Given the description of an element on the screen output the (x, y) to click on. 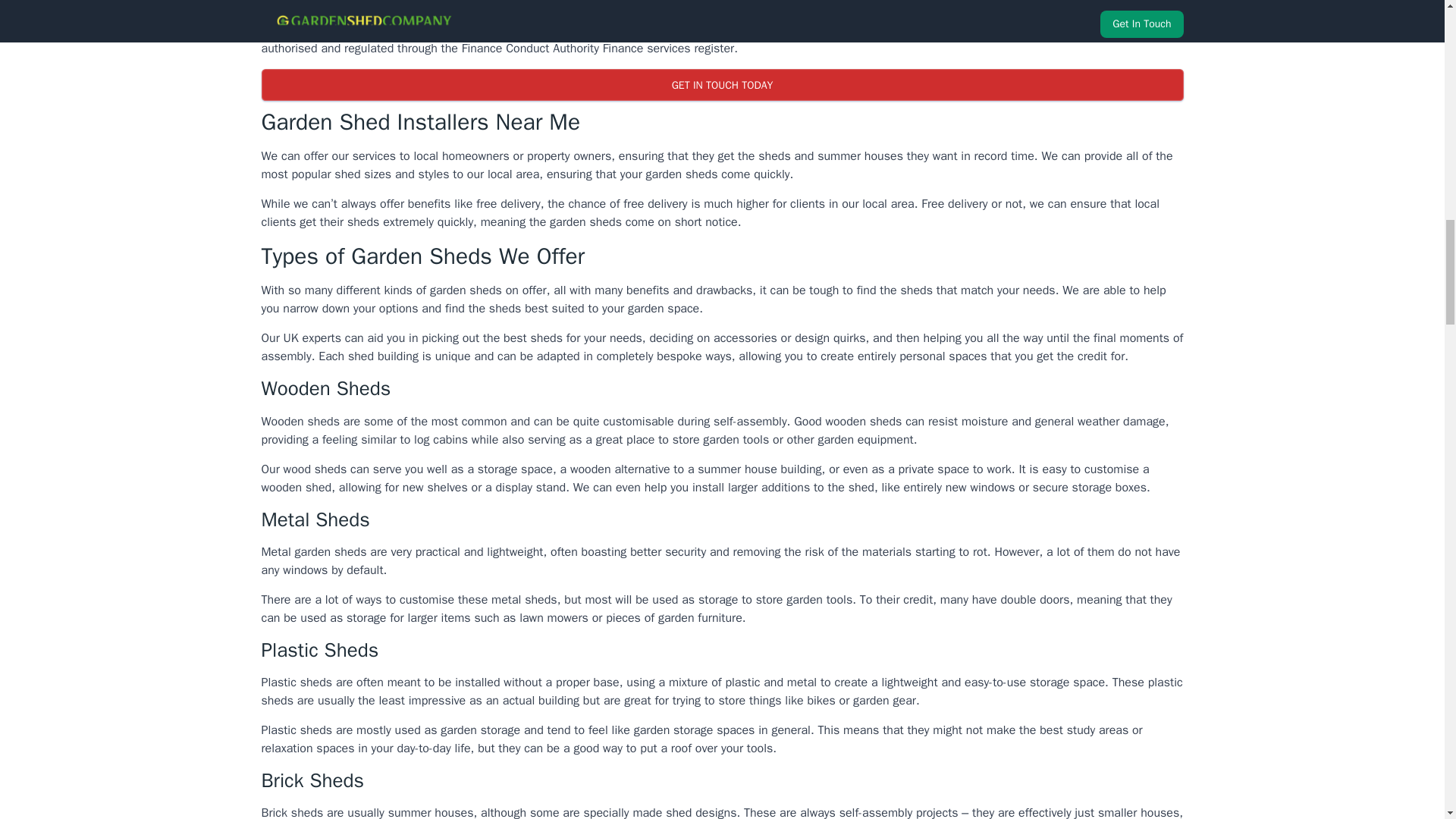
GET IN TOUCH TODAY (721, 84)
